Given the description of an element on the screen output the (x, y) to click on. 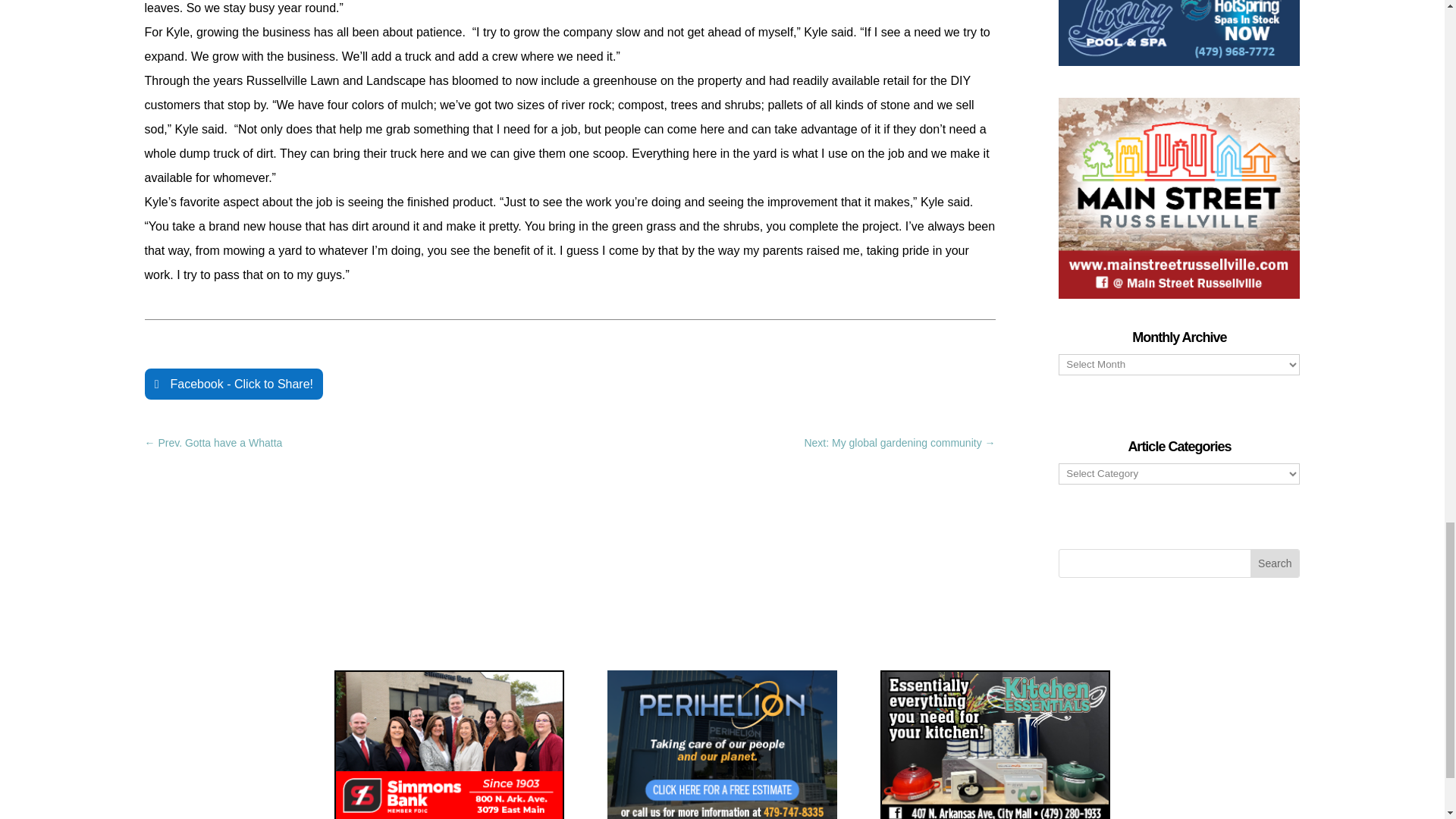
Facebook - Click to Share! (233, 383)
Search (1274, 563)
Search (1274, 563)
